Given the description of an element on the screen output the (x, y) to click on. 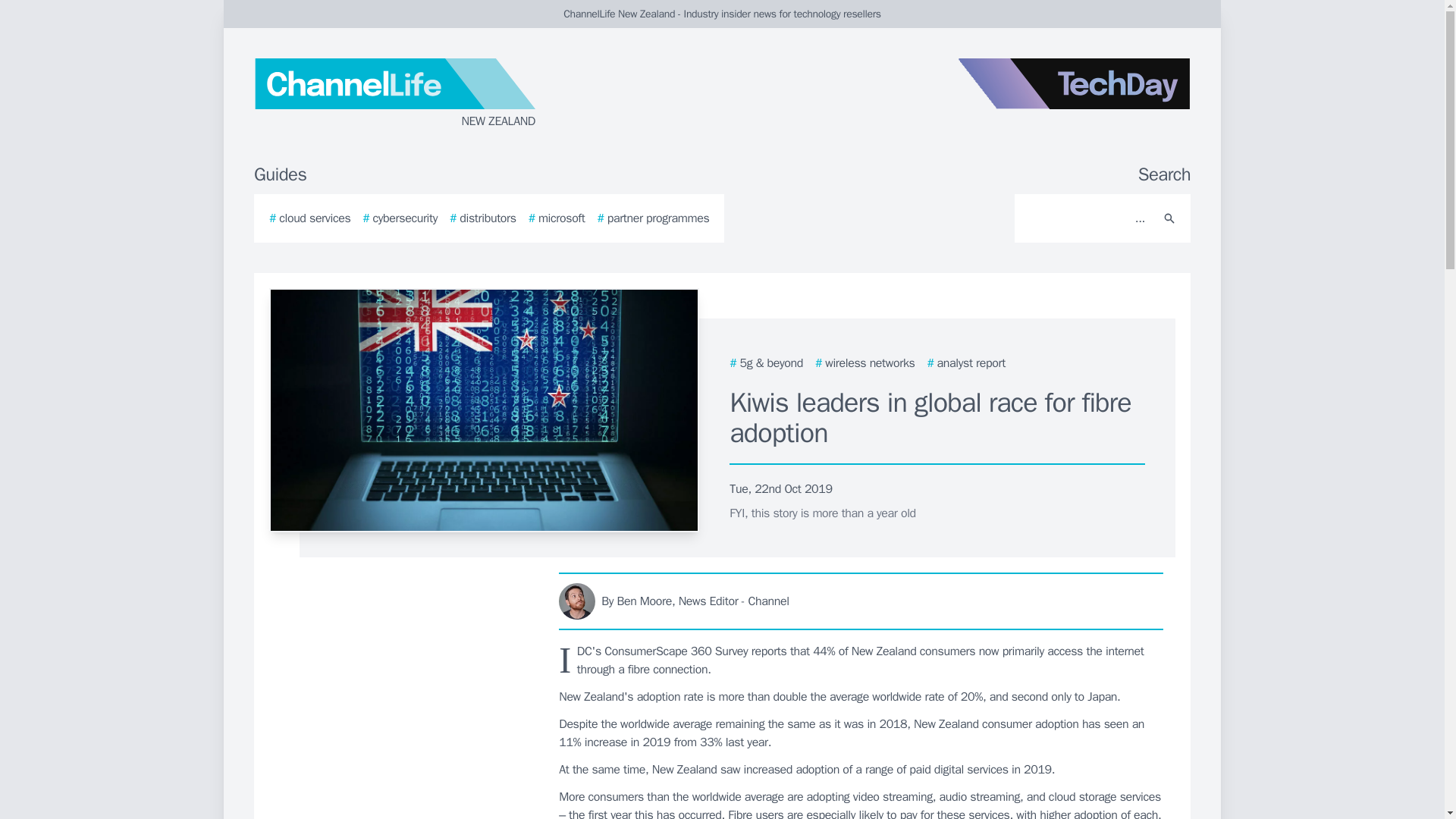
By Ben Moore, News Editor - Channel (861, 601)
NEW ZEALAND (435, 94)
